Given the description of an element on the screen output the (x, y) to click on. 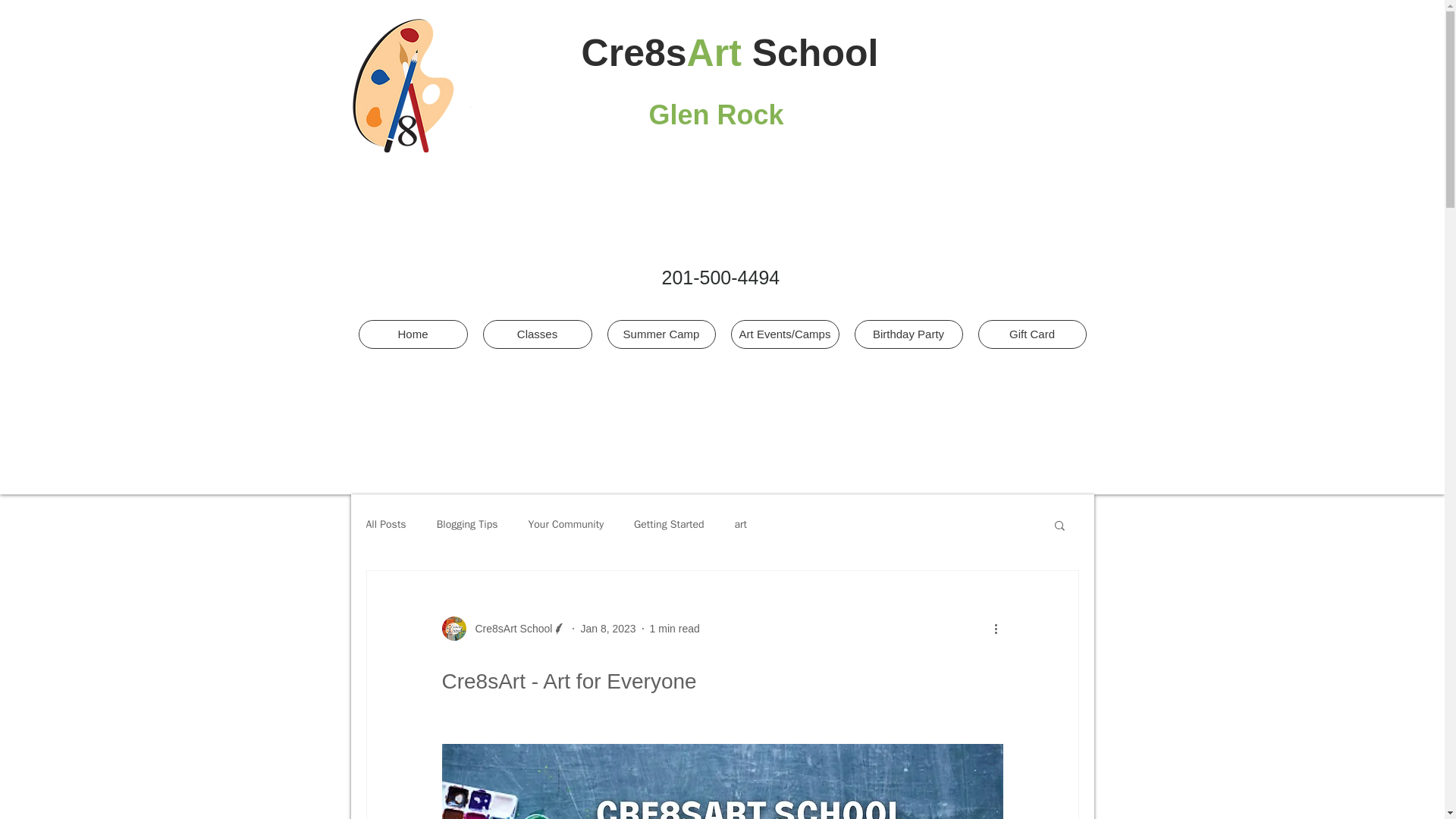
Getting Started (668, 524)
Cre8sArt School  (508, 627)
Your Community (565, 524)
All Posts (385, 524)
Jan 8, 2023 (606, 627)
Birthday Party (907, 334)
Cre8sArt School (503, 628)
Classes (536, 334)
Home (412, 334)
1 min read (674, 627)
Blogging Tips (466, 524)
Gift Card (1032, 334)
art (741, 524)
Summer Camp (660, 334)
